Given the description of an element on the screen output the (x, y) to click on. 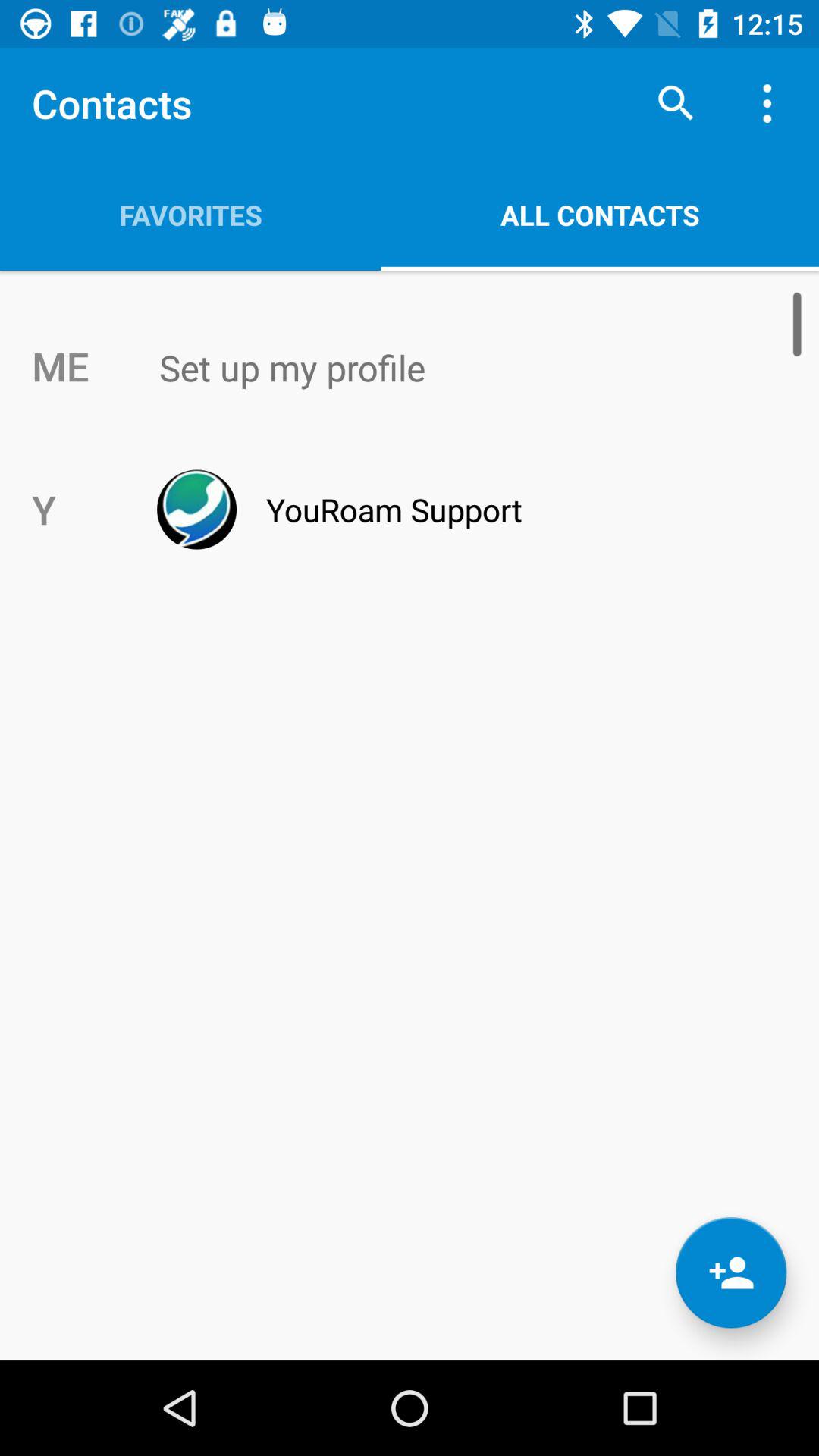
swipe to set up my item (441, 367)
